Given the description of an element on the screen output the (x, y) to click on. 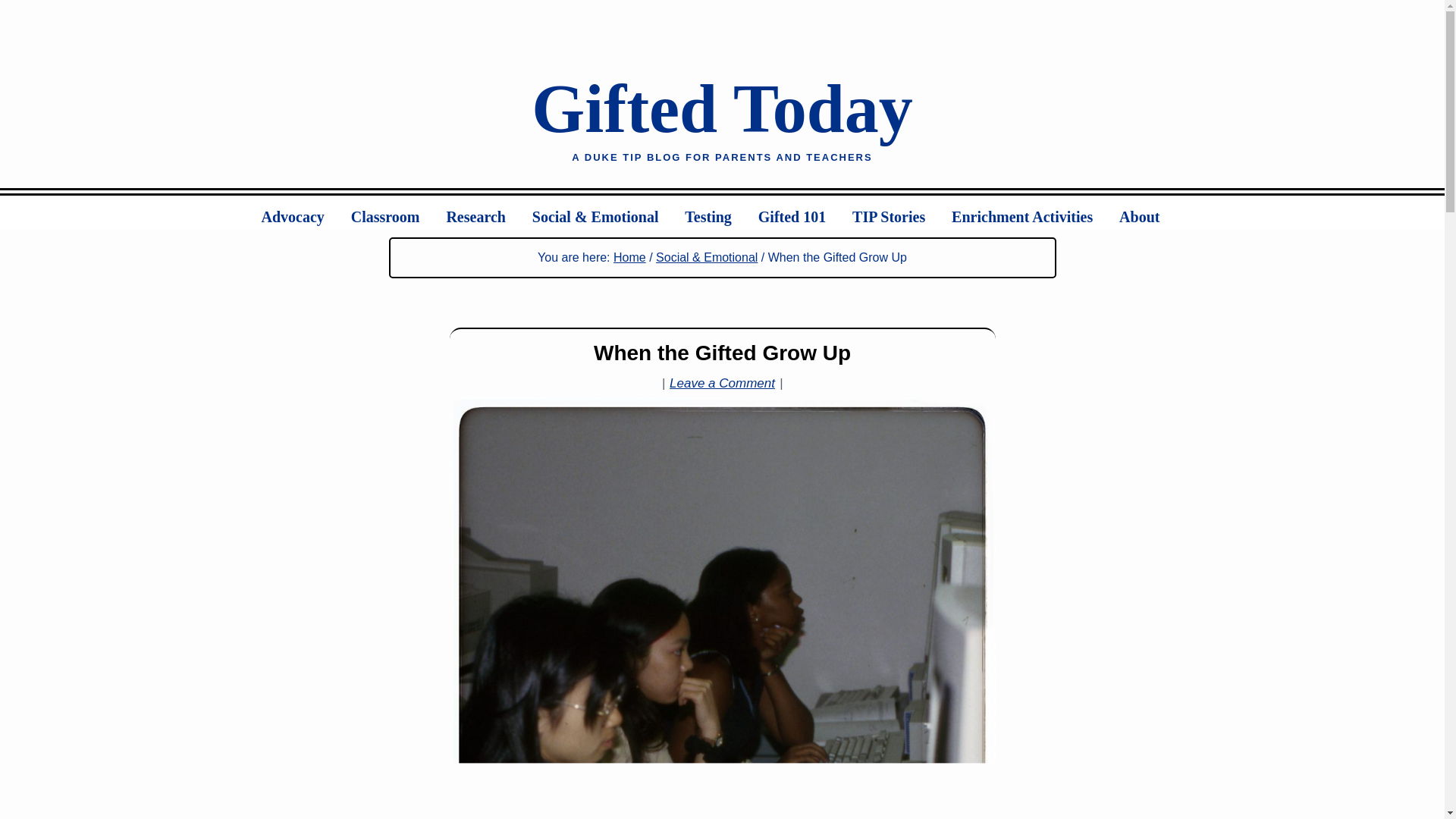
Gifted 101 (803, 212)
About (1150, 212)
Advocacy (304, 212)
Leave a Comment (721, 382)
Classroom (397, 212)
Research (487, 212)
Gifted Today (721, 108)
TIP Stories (900, 212)
Testing (719, 212)
Enrichment Activities (1034, 212)
